Given the description of an element on the screen output the (x, y) to click on. 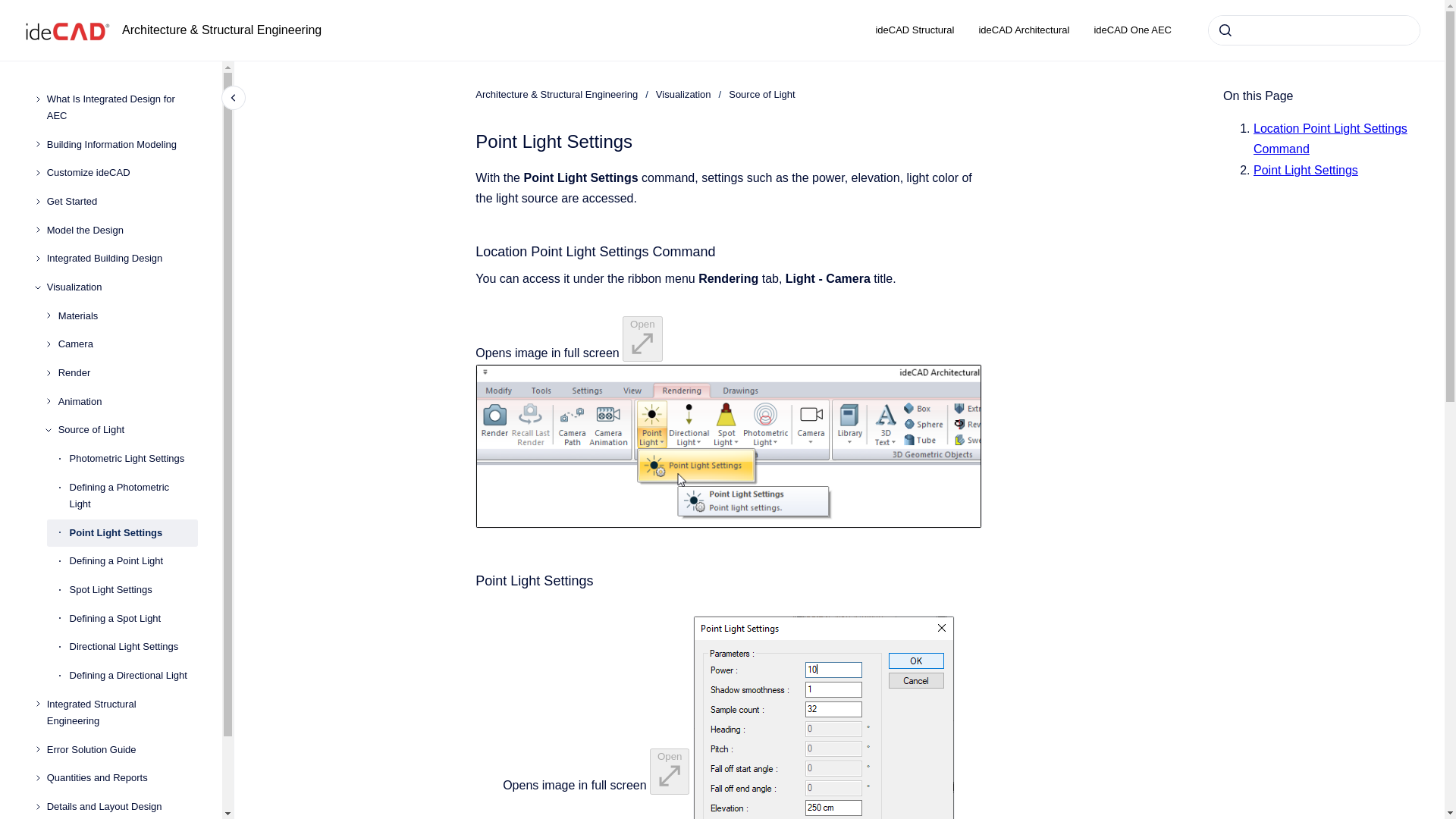
ideCAD Architectural (1023, 29)
Integrated Building Design (122, 258)
Photometric Light Settings (133, 458)
Visualization (122, 287)
Building Information Modeling (122, 144)
Directional Light Settings (133, 646)
ideCAD One AEC (1132, 29)
Render (128, 372)
What Is Integrated Design for AEC (122, 107)
Model the Design (122, 230)
